Given the description of an element on the screen output the (x, y) to click on. 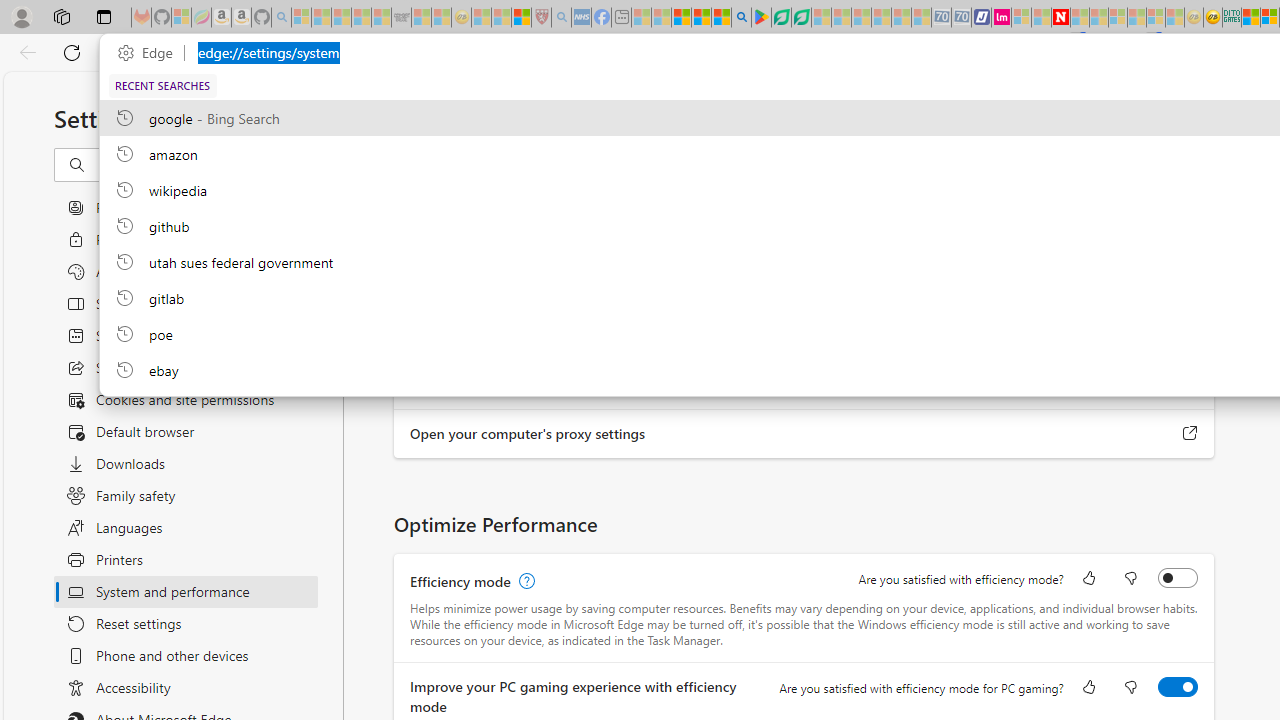
Open your computer's proxy settings (1190, 434)
Bluey: Let's Play! - Apps on Google Play (760, 17)
